Given the description of an element on the screen output the (x, y) to click on. 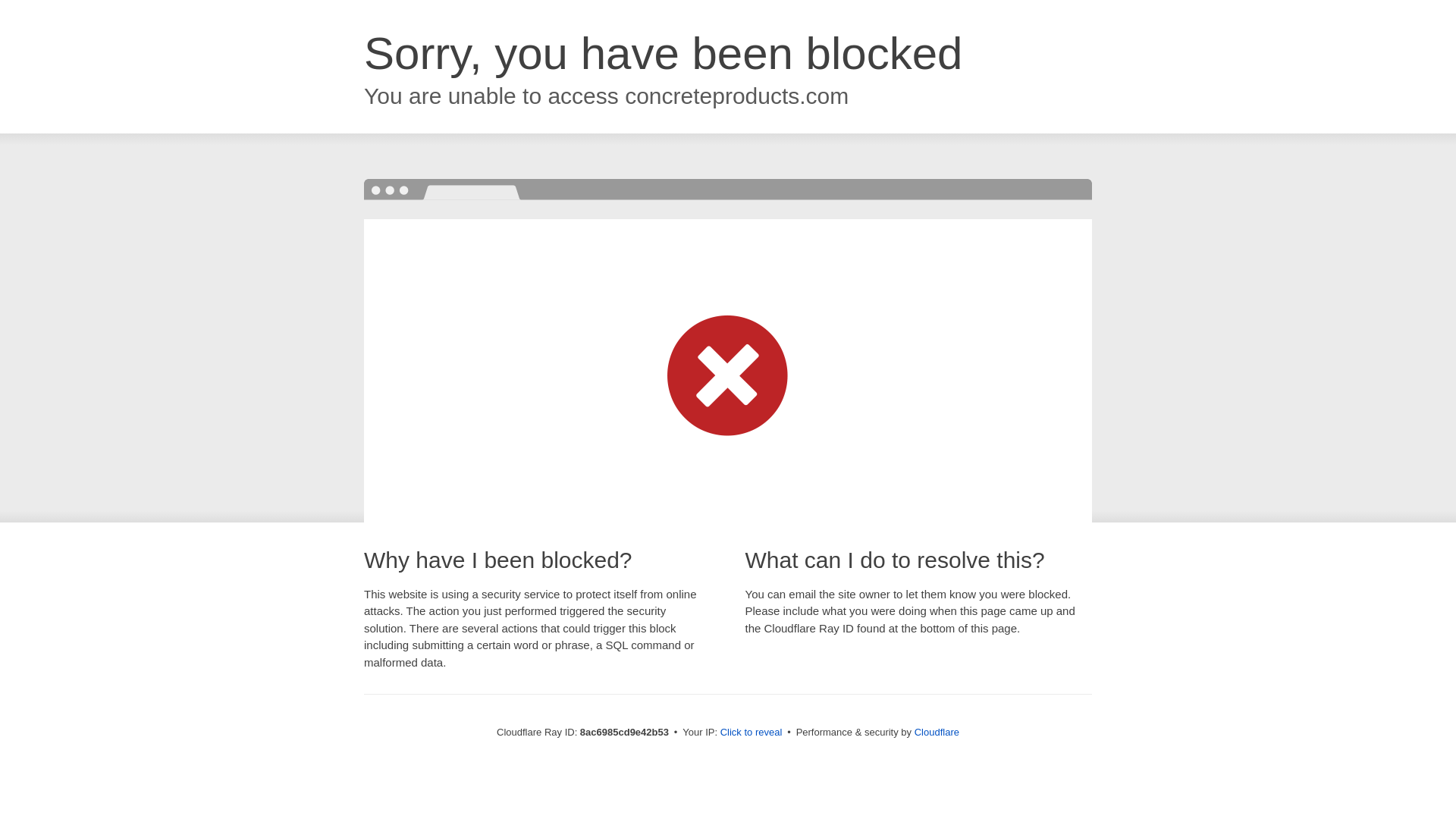
Cloudflare (936, 731)
Click to reveal (751, 732)
